Given the description of an element on the screen output the (x, y) to click on. 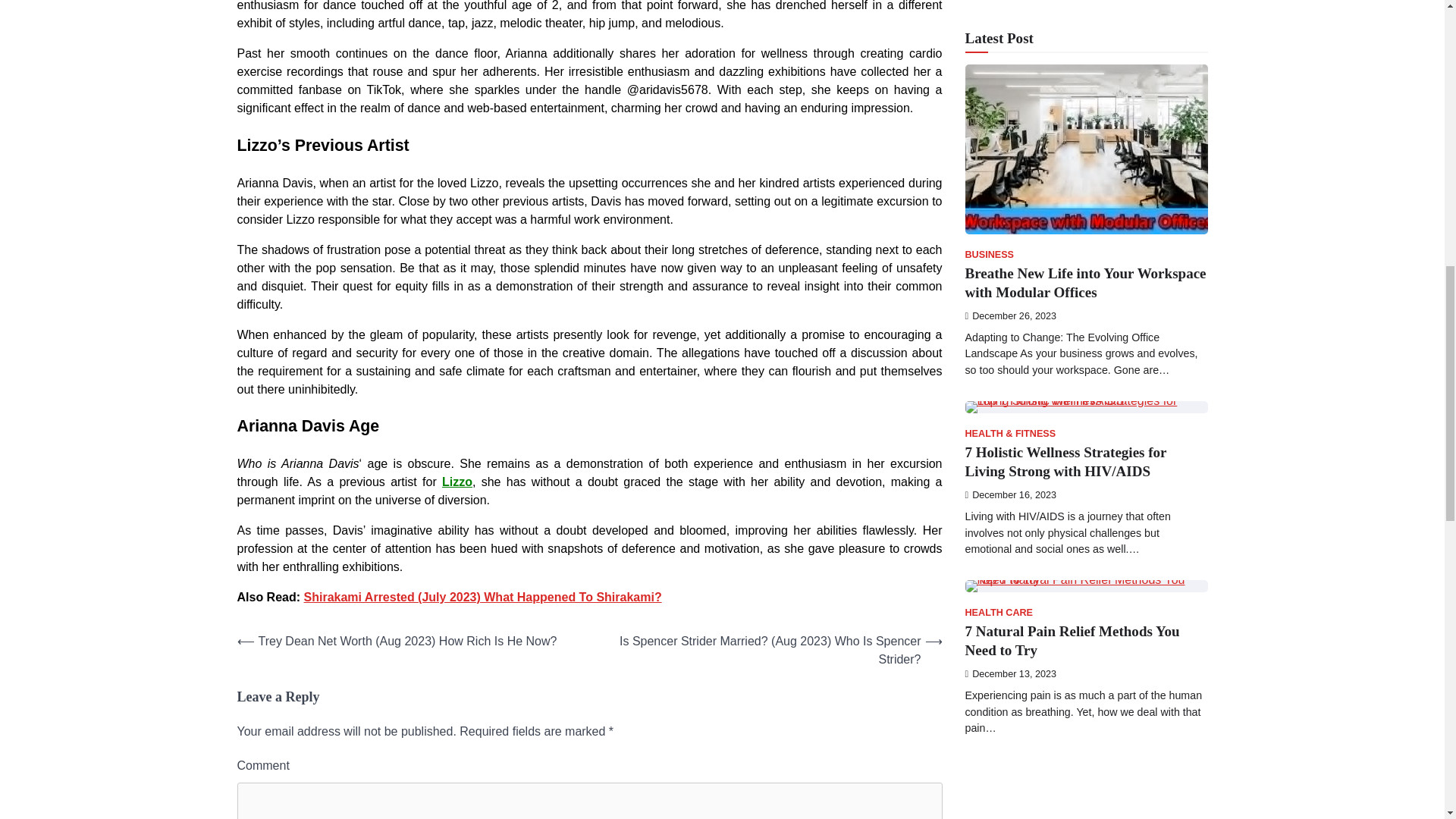
7 Natural Pain Relief Methods You Need to Try (1071, 4)
December 13, 2023 (1010, 25)
Lizzo (456, 481)
